Given the description of an element on the screen output the (x, y) to click on. 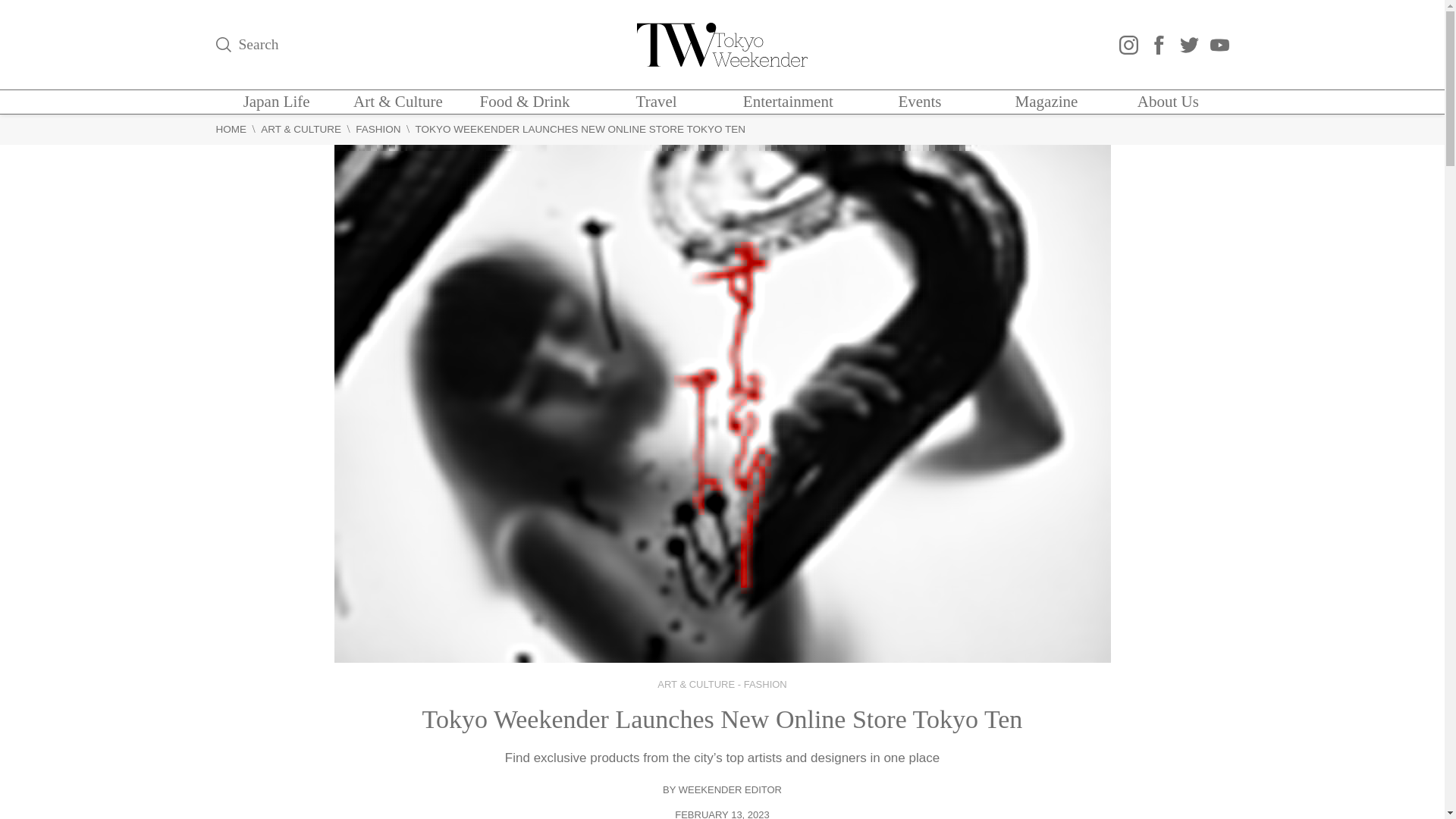
Entertainment (787, 101)
Magazine (1046, 101)
Events (919, 101)
Travel (656, 101)
About Us (1167, 101)
Japan Life (276, 101)
